Given the description of an element on the screen output the (x, y) to click on. 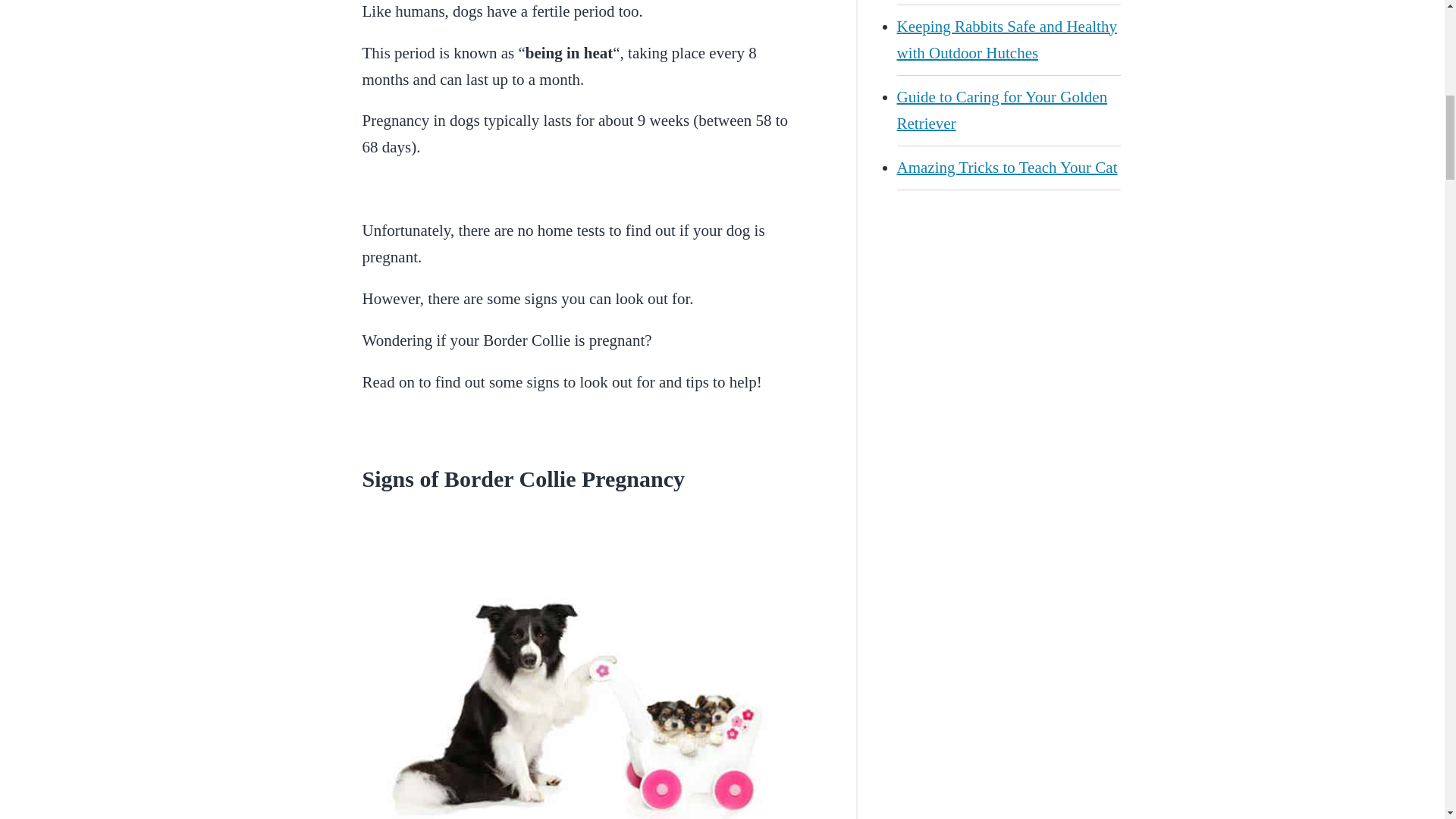
Keeping Rabbits Safe and Healthy with Outdoor Hutches (1007, 39)
Amazing Tricks to Teach Your Cat (1007, 167)
Guide to Caring for Your Golden Retriever (1007, 110)
